Given the description of an element on the screen output the (x, y) to click on. 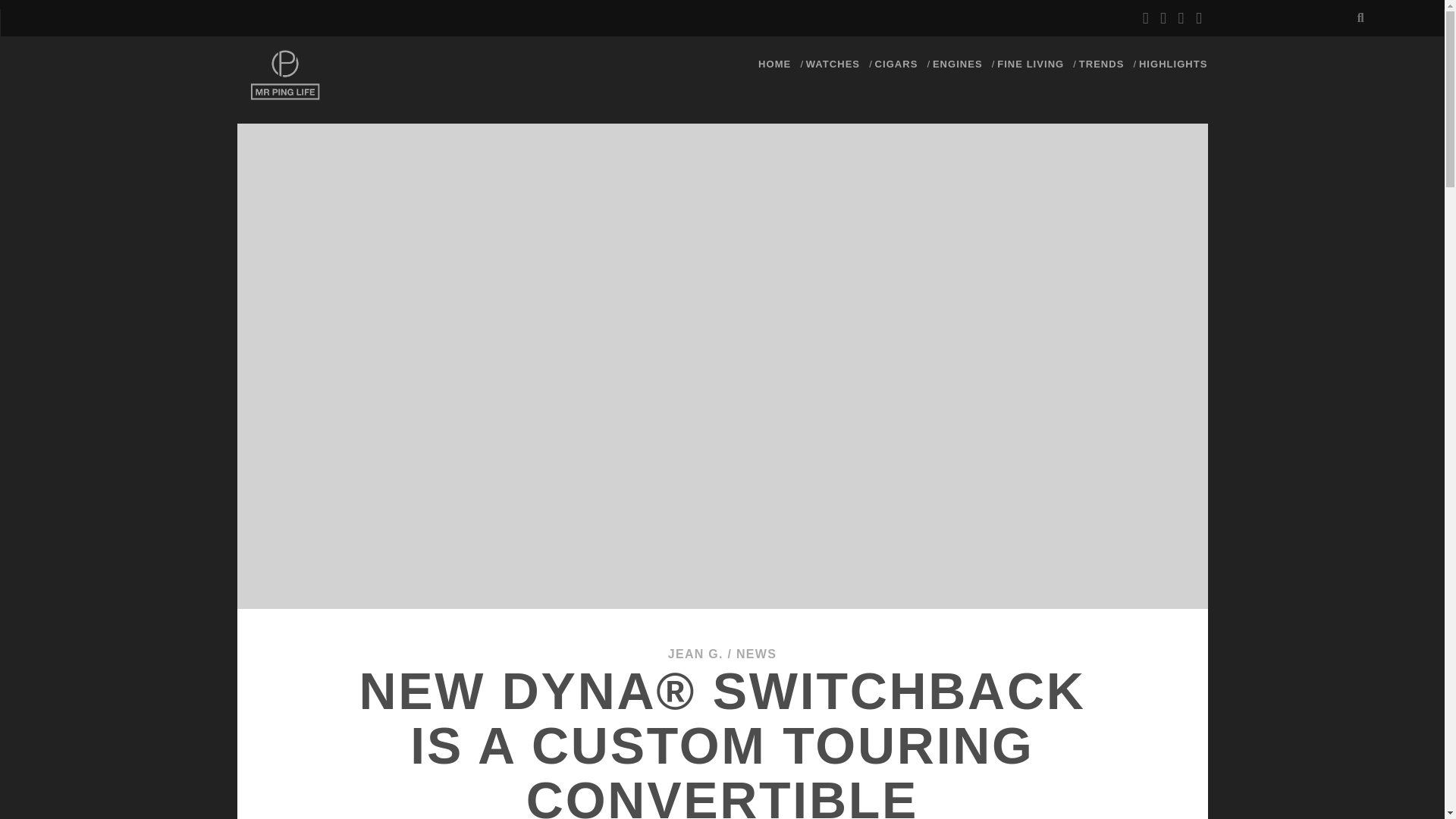
TRENDS (1101, 64)
HIGHLIGHTS (1173, 64)
HOME (774, 64)
ENGINES (957, 64)
Posts by Jean G. (695, 653)
NEWS (756, 653)
JEAN G. (695, 653)
CIGARS (896, 64)
FINE LIVING (1030, 64)
WATCHES (833, 64)
